Given the description of an element on the screen output the (x, y) to click on. 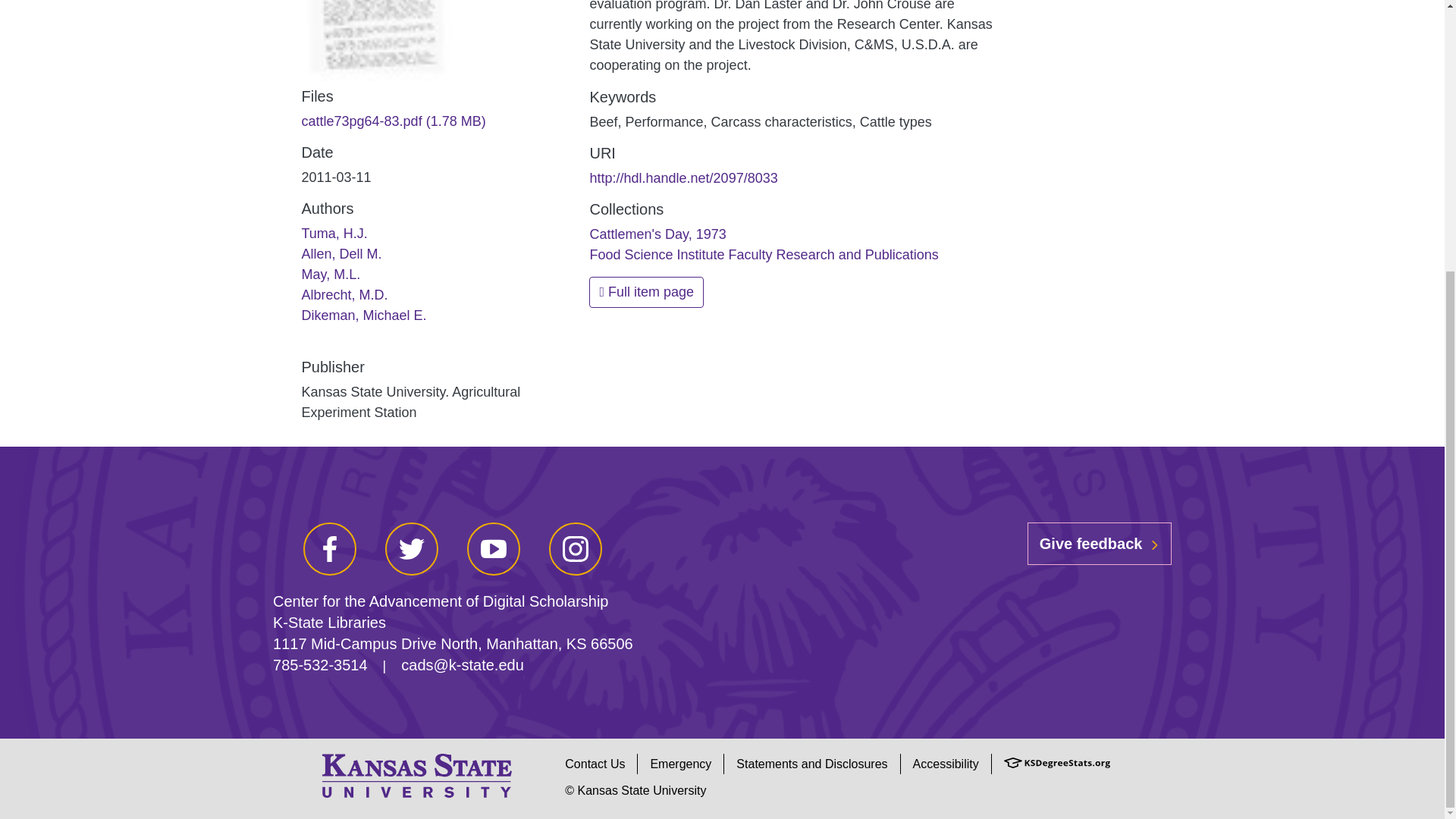
chevron (1154, 544)
Tuma, H.J. (334, 233)
Albrecht, M.D. (344, 294)
Allen, Dell M. (341, 253)
Dikeman, Michael E. (363, 314)
May, M.L. (331, 273)
